Given the description of an element on the screen output the (x, y) to click on. 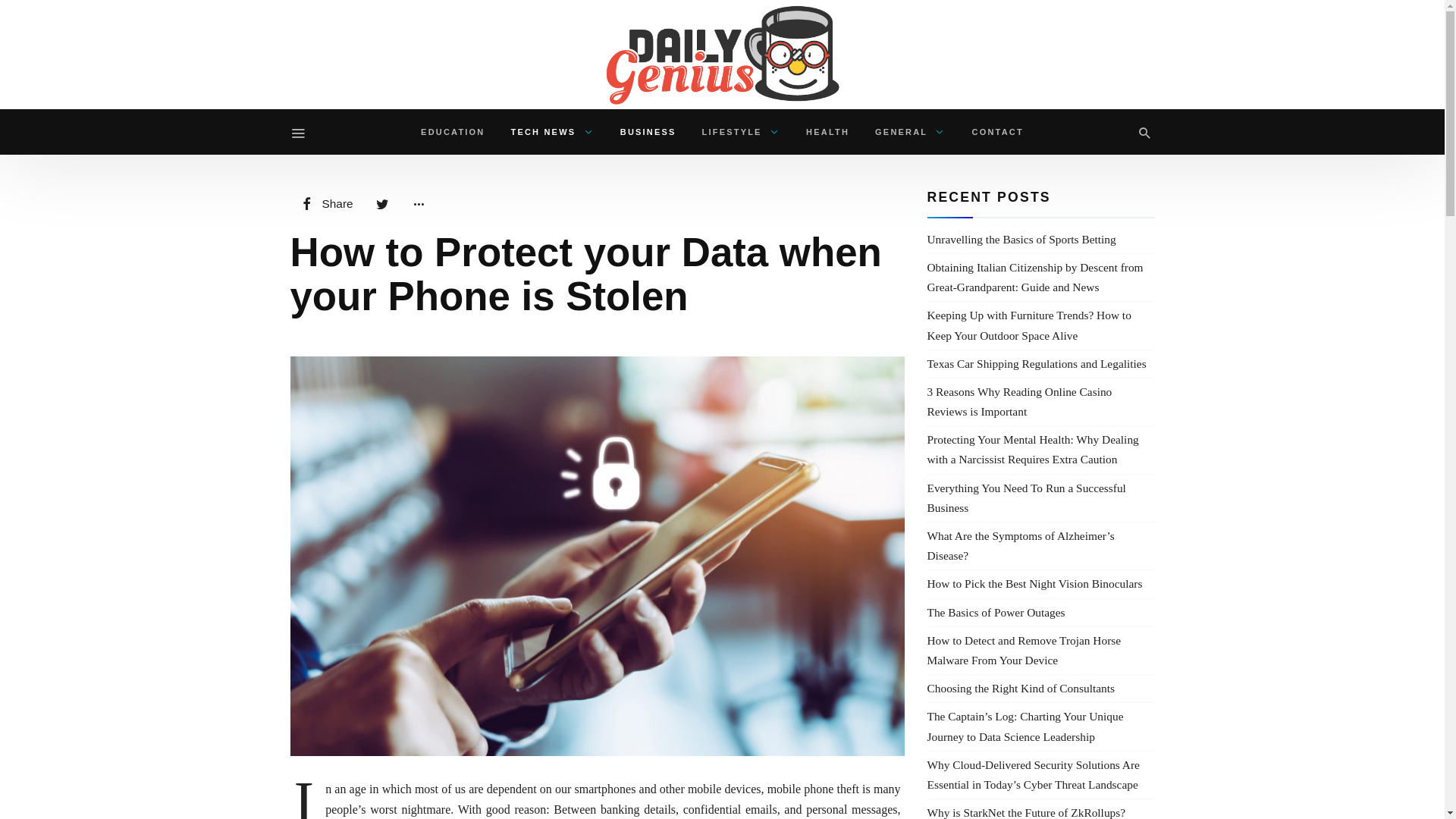
Share on Facebook (324, 204)
TECH NEWS (552, 131)
BUSINESS (647, 131)
EDUCATION (452, 131)
LIFESTYLE (741, 131)
CONTACT (997, 131)
GENERAL (909, 131)
Share on Twitter (381, 204)
More (418, 204)
Share (324, 204)
HEALTH (827, 131)
